Given the description of an element on the screen output the (x, y) to click on. 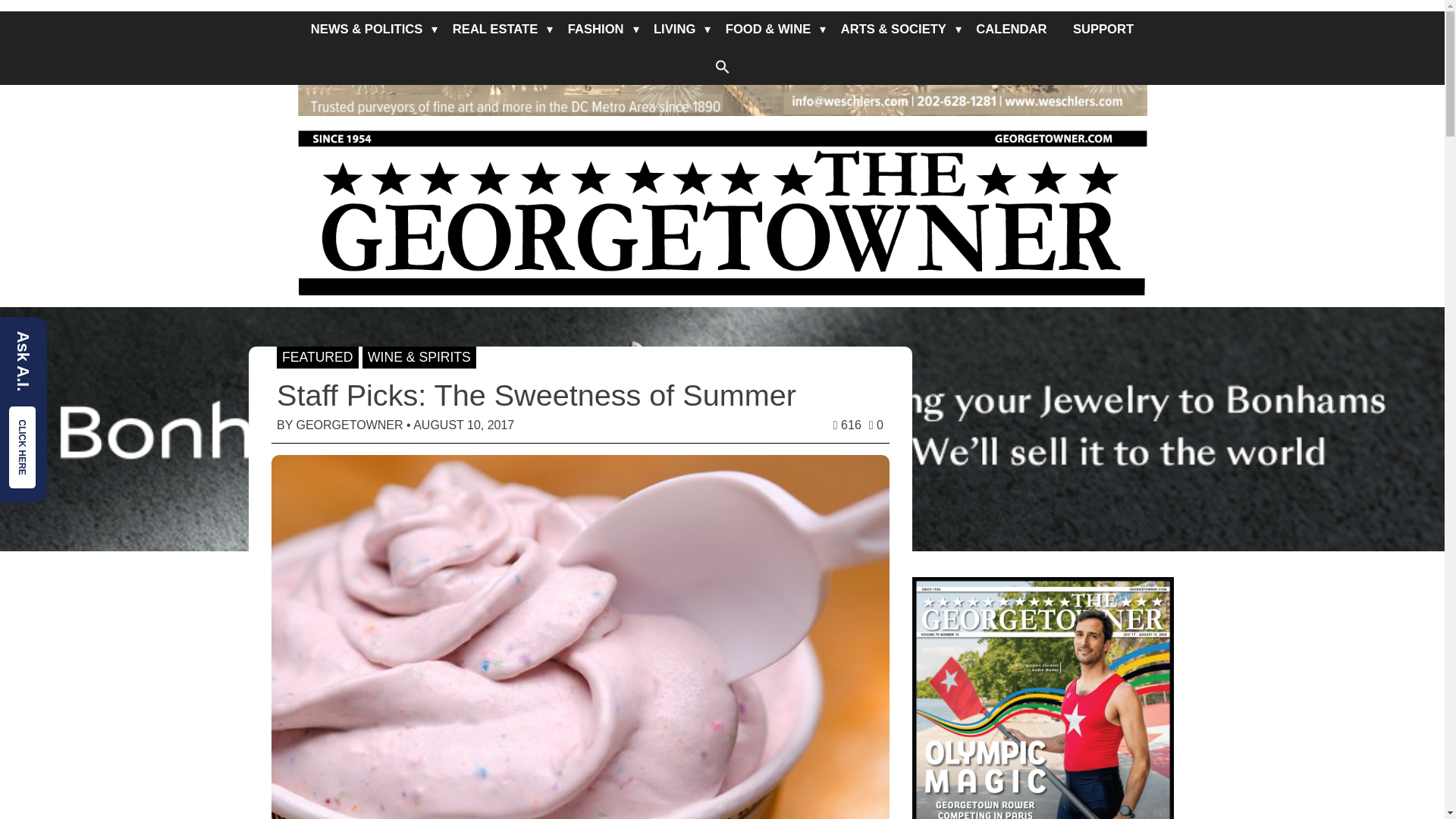
REAL ESTATE (494, 29)
FASHION (595, 29)
Posts by Georgetowner (349, 424)
Weschler's July 2024 Leaderboard Ad (722, 58)
SUPPORT (1102, 29)
LIVING (674, 29)
CALENDAR (1010, 29)
